Given the description of an element on the screen output the (x, y) to click on. 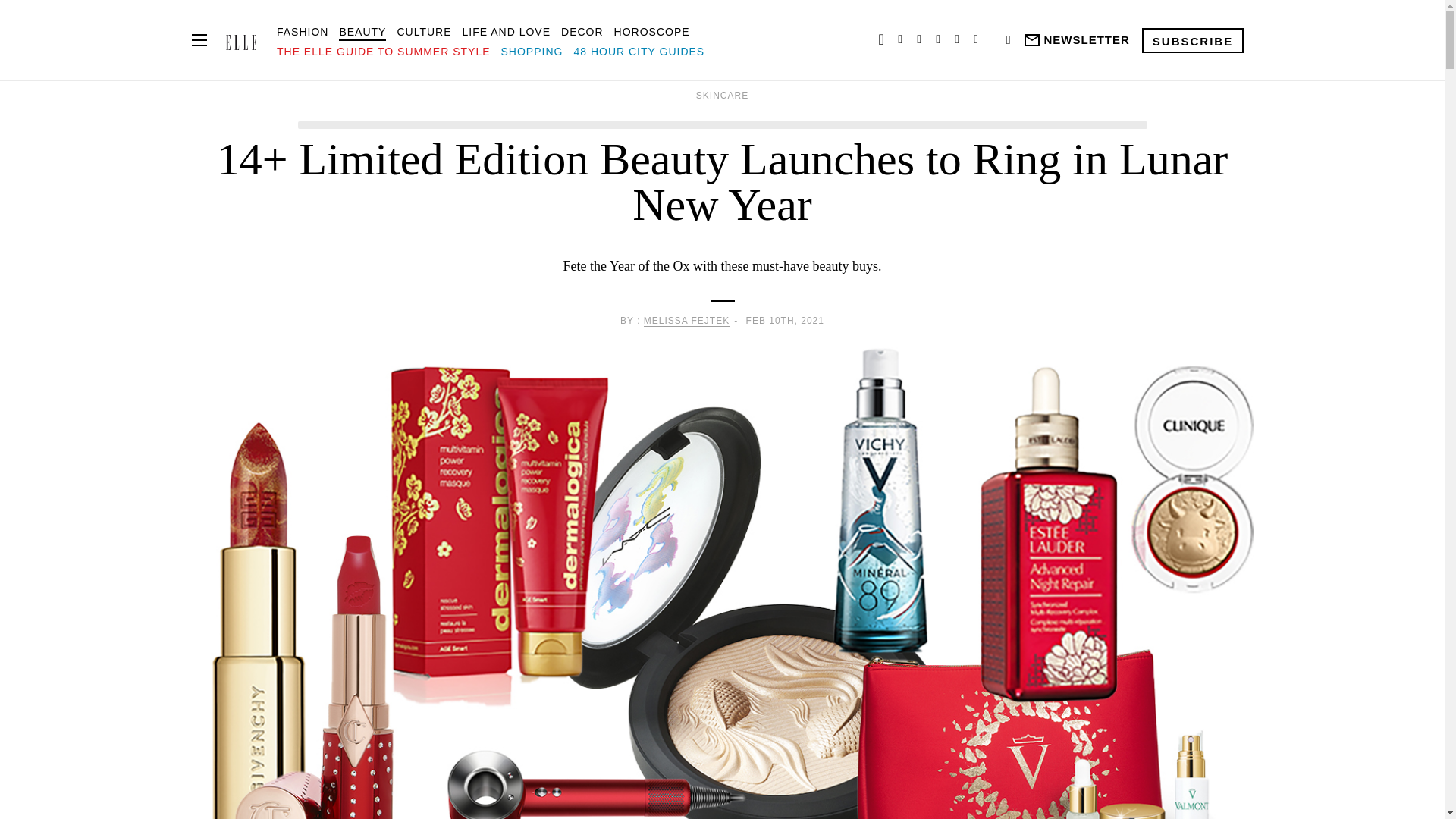
FASHION (302, 31)
CULTURE (423, 31)
MELISSA FEJTEK (686, 320)
HOROSCOPE (652, 31)
NEWSLETTER (1075, 40)
BEAUTY (362, 31)
SUBSCRIBE (1192, 39)
48 HOUR CITY GUIDES (638, 51)
THE ELLE GUIDE TO SUMMER STYLE (383, 51)
LIFE AND LOVE (506, 31)
DECOR (582, 31)
SHOPPING (531, 51)
